Given the description of an element on the screen output the (x, y) to click on. 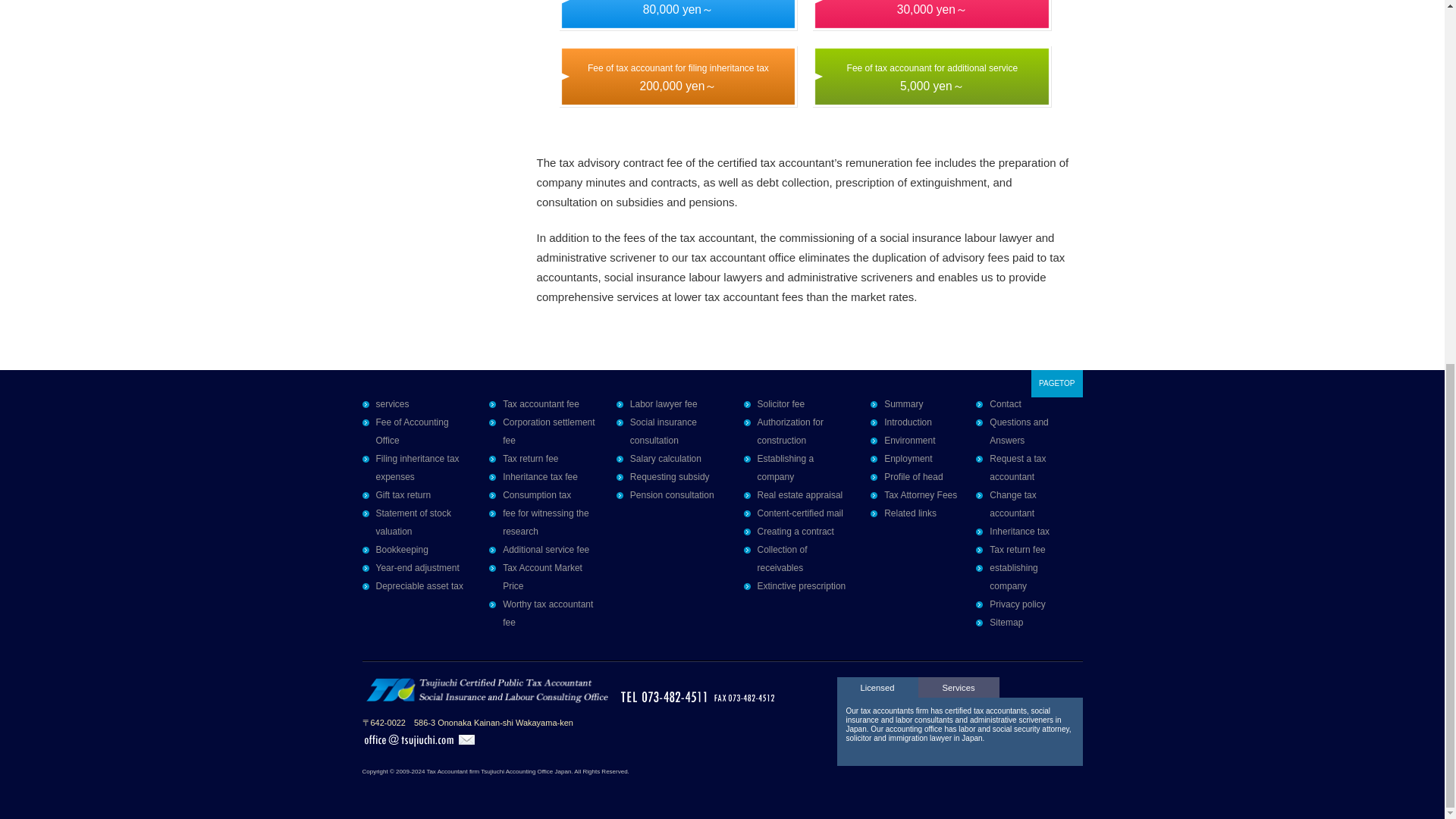
PAGETOP (1055, 383)
